Given the description of an element on the screen output the (x, y) to click on. 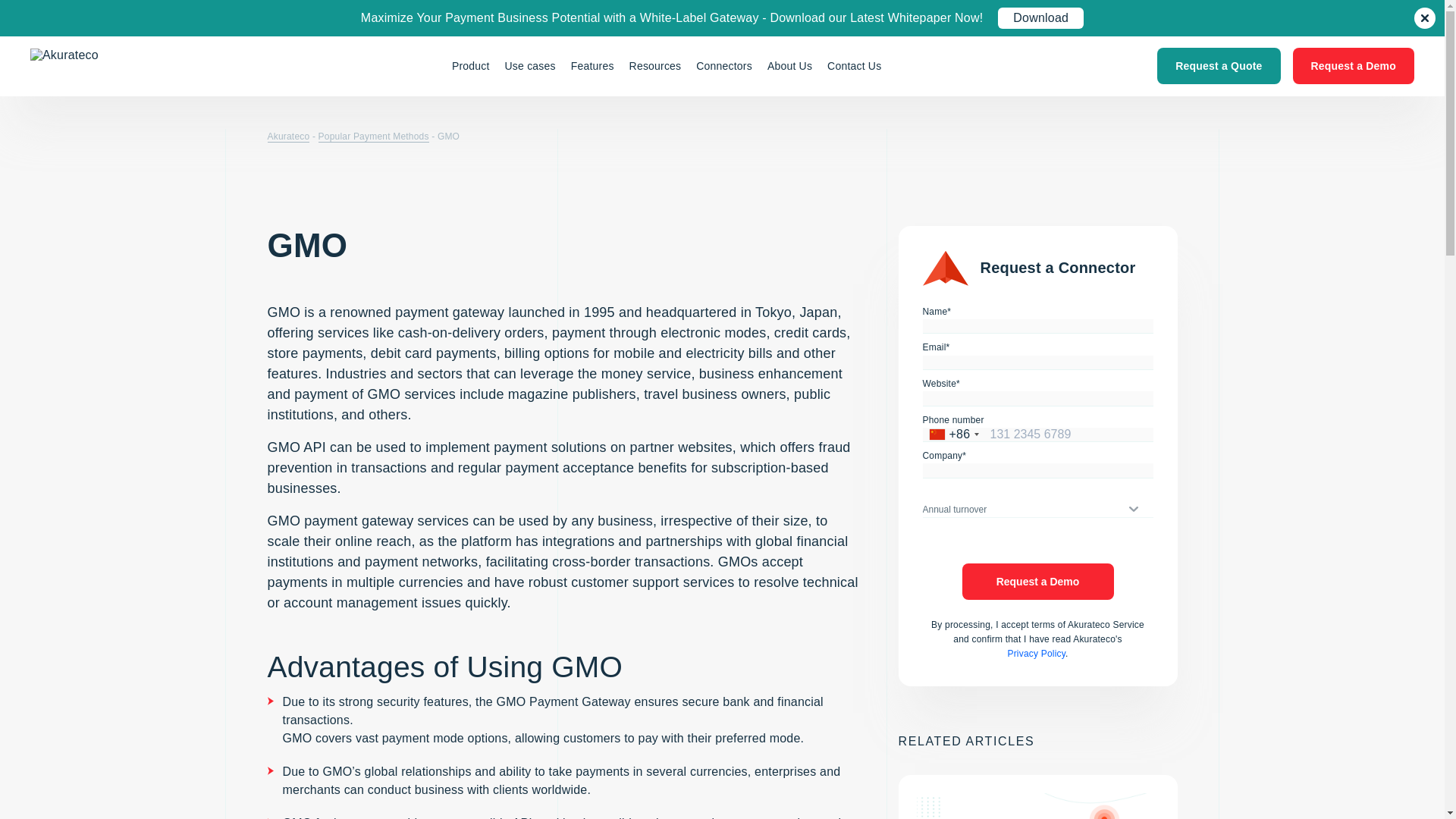
Request a Demo (1352, 65)
Contact Us (853, 65)
Connectors (724, 65)
Close (1424, 17)
Akurateco (103, 66)
Request a Quote (1218, 65)
Download (1040, 17)
About Us (789, 65)
